Given the description of an element on the screen output the (x, y) to click on. 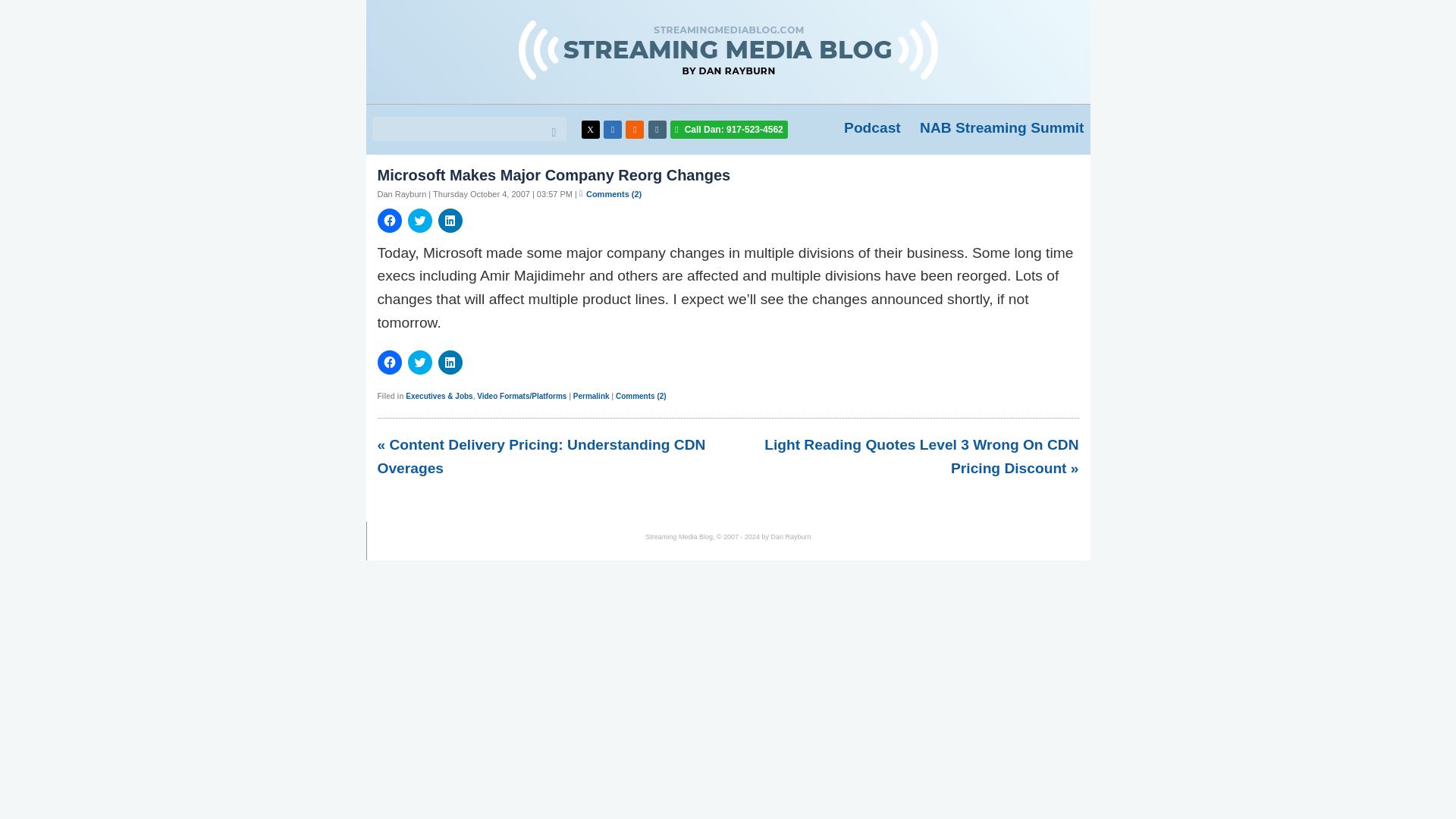
NAB Streaming Summit (1001, 127)
Permalink (591, 396)
Click to share on Facebook (389, 220)
Dan Rayburn Podcast (872, 127)
Click to share on LinkedIn (450, 362)
Click to share on LinkedIn (450, 220)
NAB Streaming Summit (1001, 127)
Click to share on Facebook (389, 362)
Search (550, 131)
Search (550, 131)
